Given the description of an element on the screen output the (x, y) to click on. 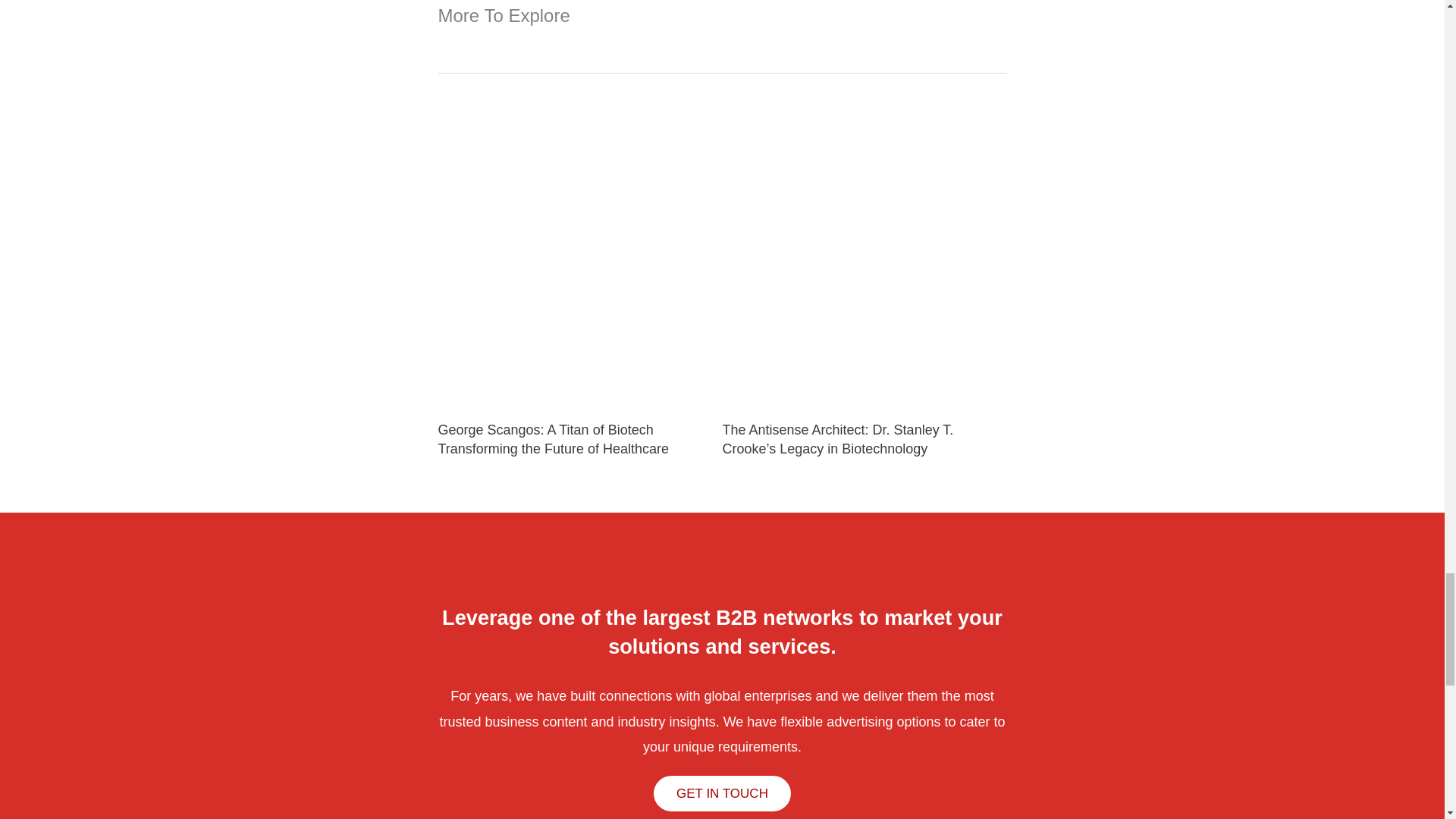
GET IN TOUCH (721, 793)
